Given the description of an element on the screen output the (x, y) to click on. 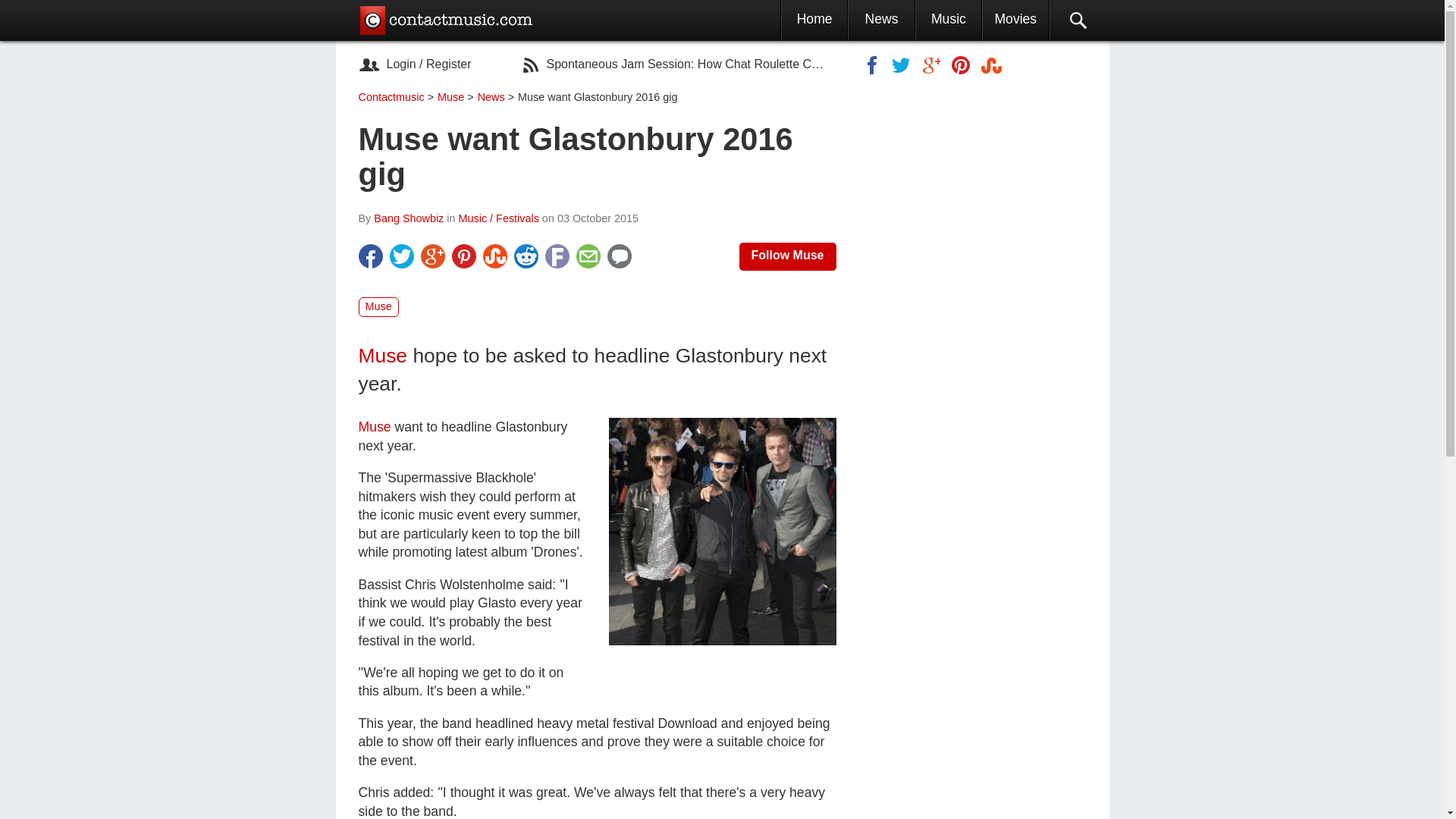
Muse (382, 354)
Home (814, 18)
Follow Muse (786, 256)
Bang Showbiz (409, 218)
Muse (377, 306)
Music (948, 18)
Login (401, 63)
News (881, 18)
News (492, 96)
Muse (452, 96)
